Given the description of an element on the screen output the (x, y) to click on. 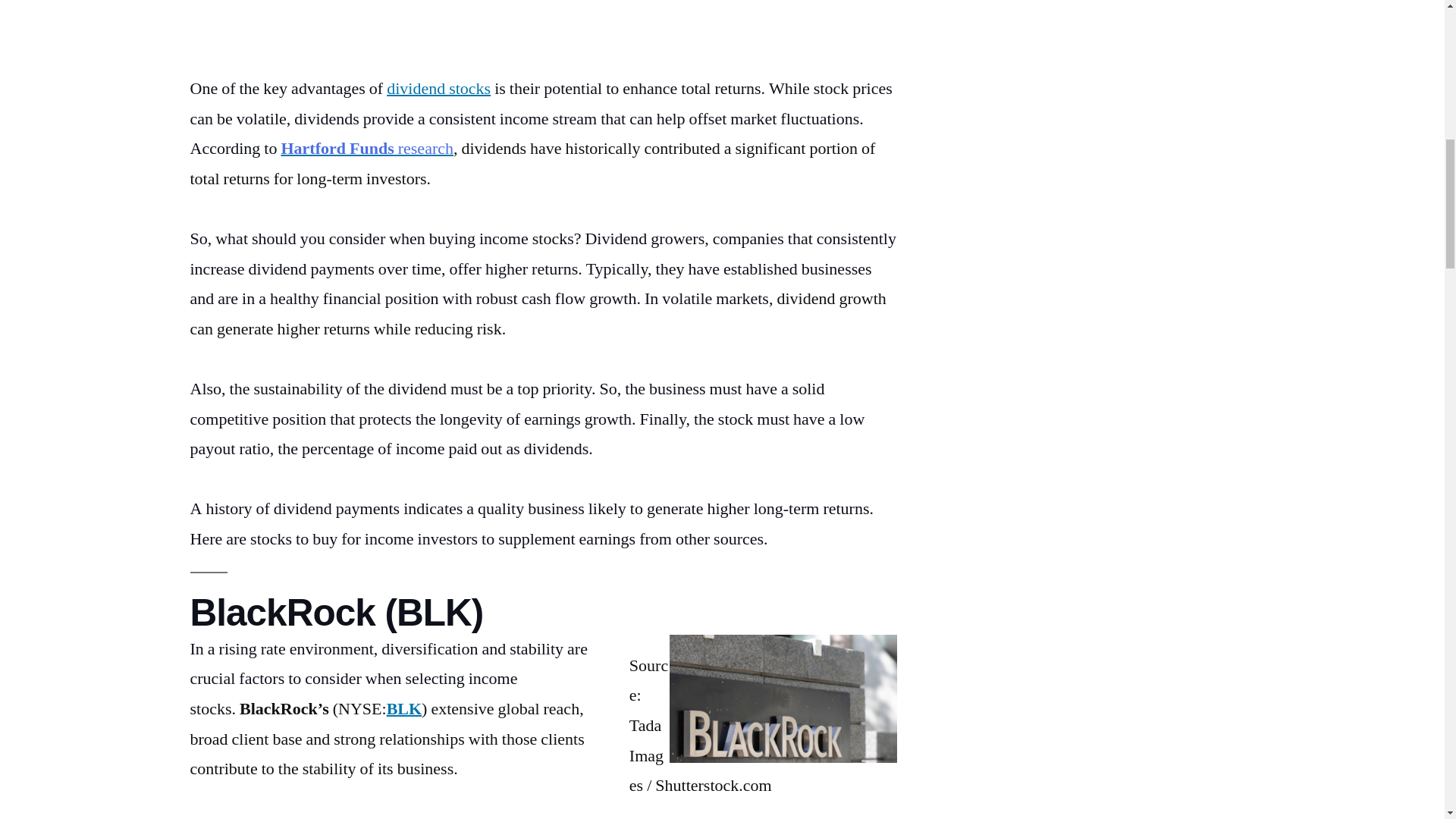
Hartford Funds research (366, 148)
BLK (404, 708)
dividend stocks (438, 88)
